Given the description of an element on the screen output the (x, y) to click on. 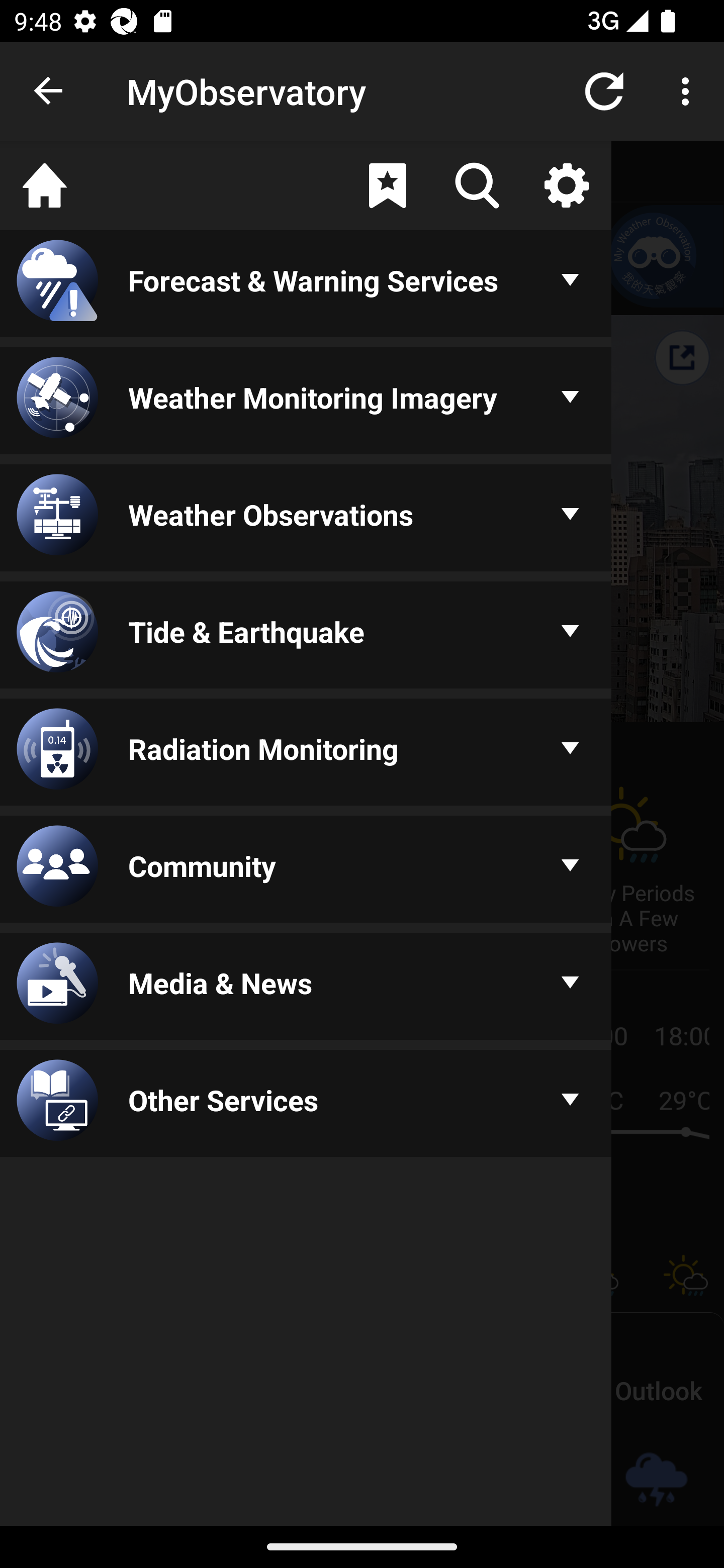
Navigate up (49, 91)
Refresh (604, 90)
More options (688, 90)
Homepage (44, 185)
Bookmark Manager (387, 185)
Search Unselected (477, 185)
Settings (566, 185)
Forecast & Warning Services Collapsed (305, 285)
Weather Monitoring Imagery Collapsed (305, 401)
Weather Observations Collapsed (305, 518)
Tide & Earthquake Collapsed (305, 636)
Radiation Monitoring Collapsed (305, 753)
Community Collapsed (305, 870)
Media & News Collapsed (305, 987)
Other Services Collapsed (305, 1104)
